Given the description of an element on the screen output the (x, y) to click on. 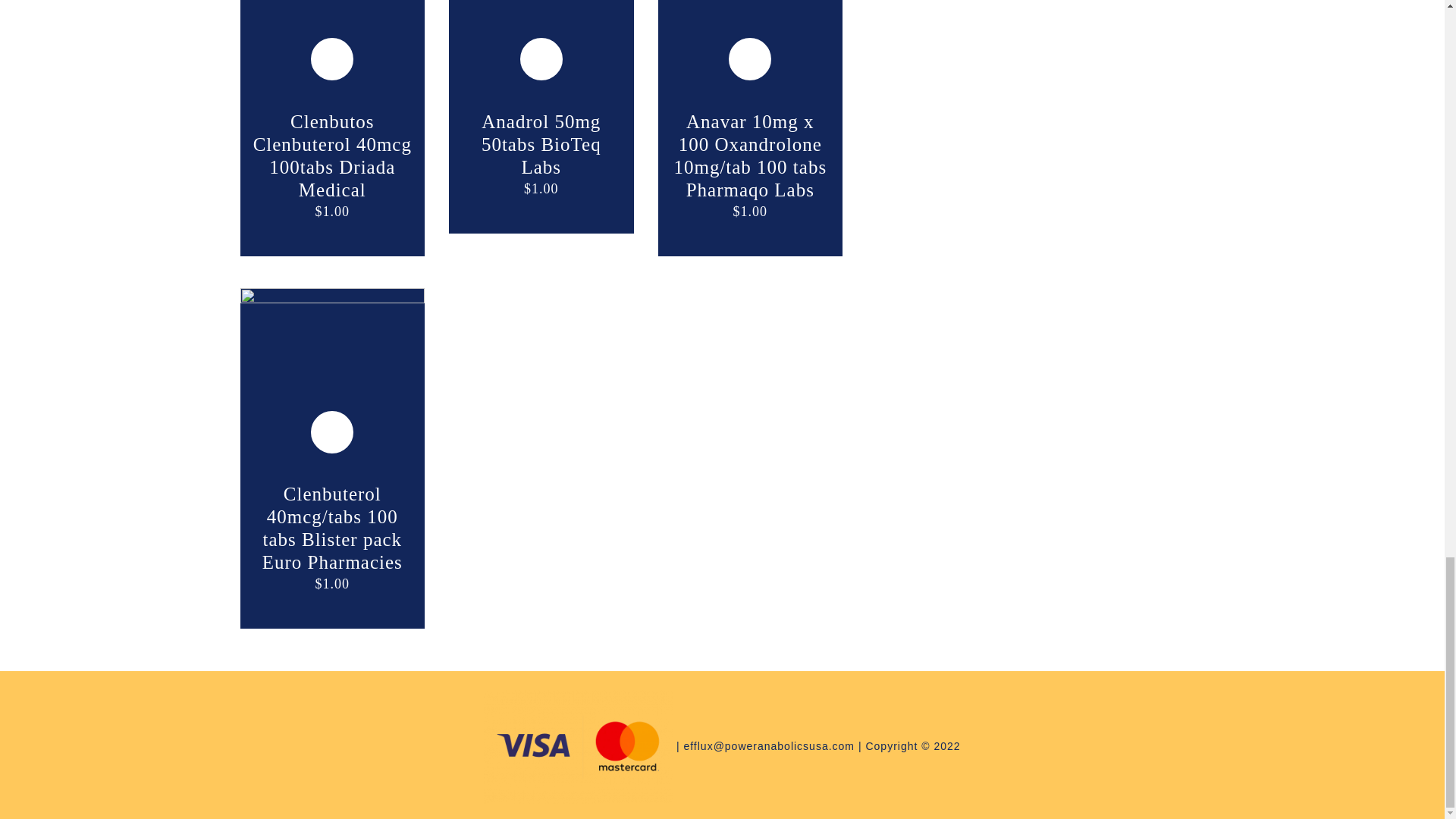
Add to cart (541, 58)
Add to cart (331, 58)
Add to cart (331, 432)
Add to cart (749, 58)
